Given the description of an element on the screen output the (x, y) to click on. 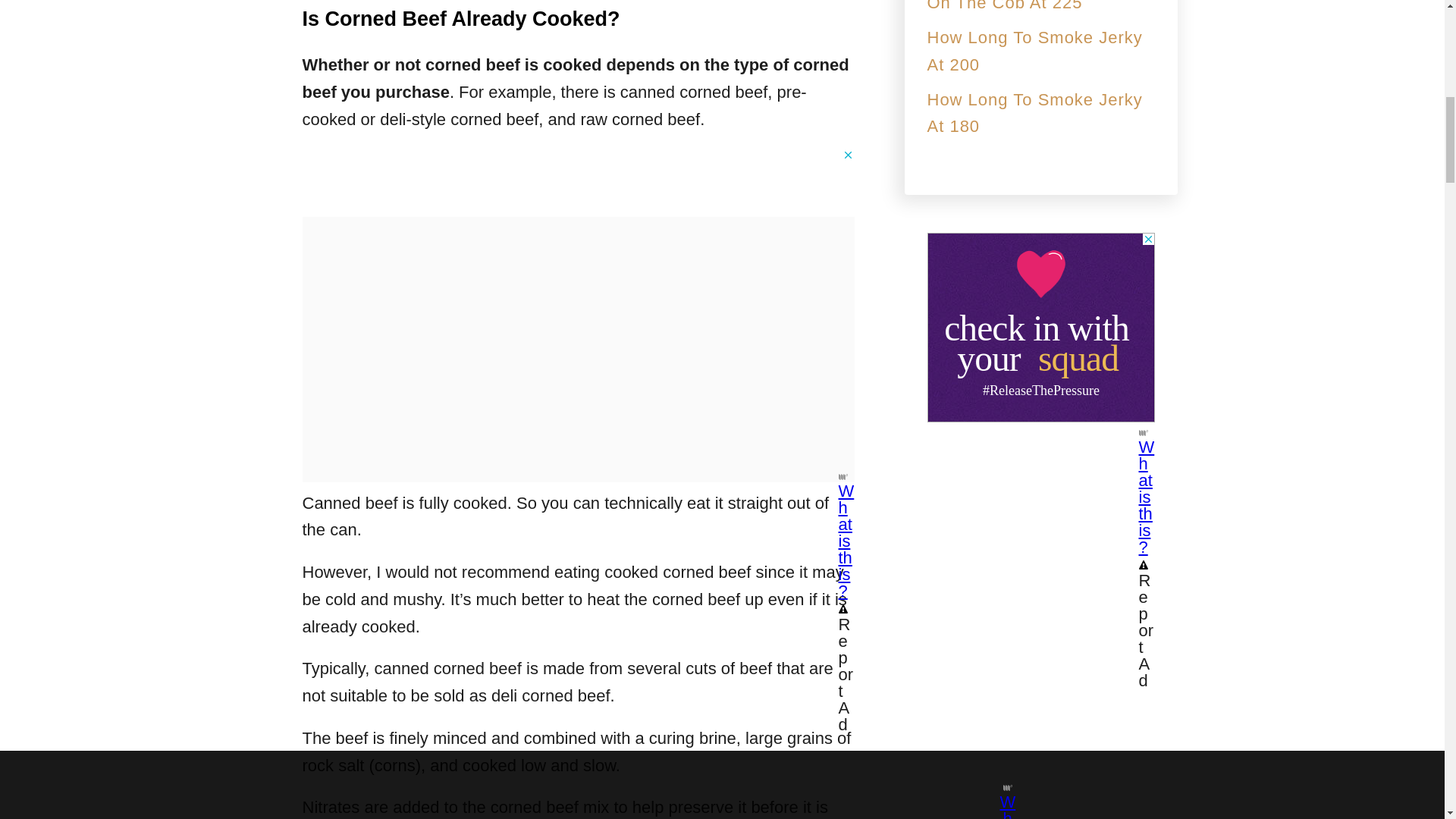
3rd party ad content (577, 182)
3rd party ad content (1040, 327)
